Given the description of an element on the screen output the (x, y) to click on. 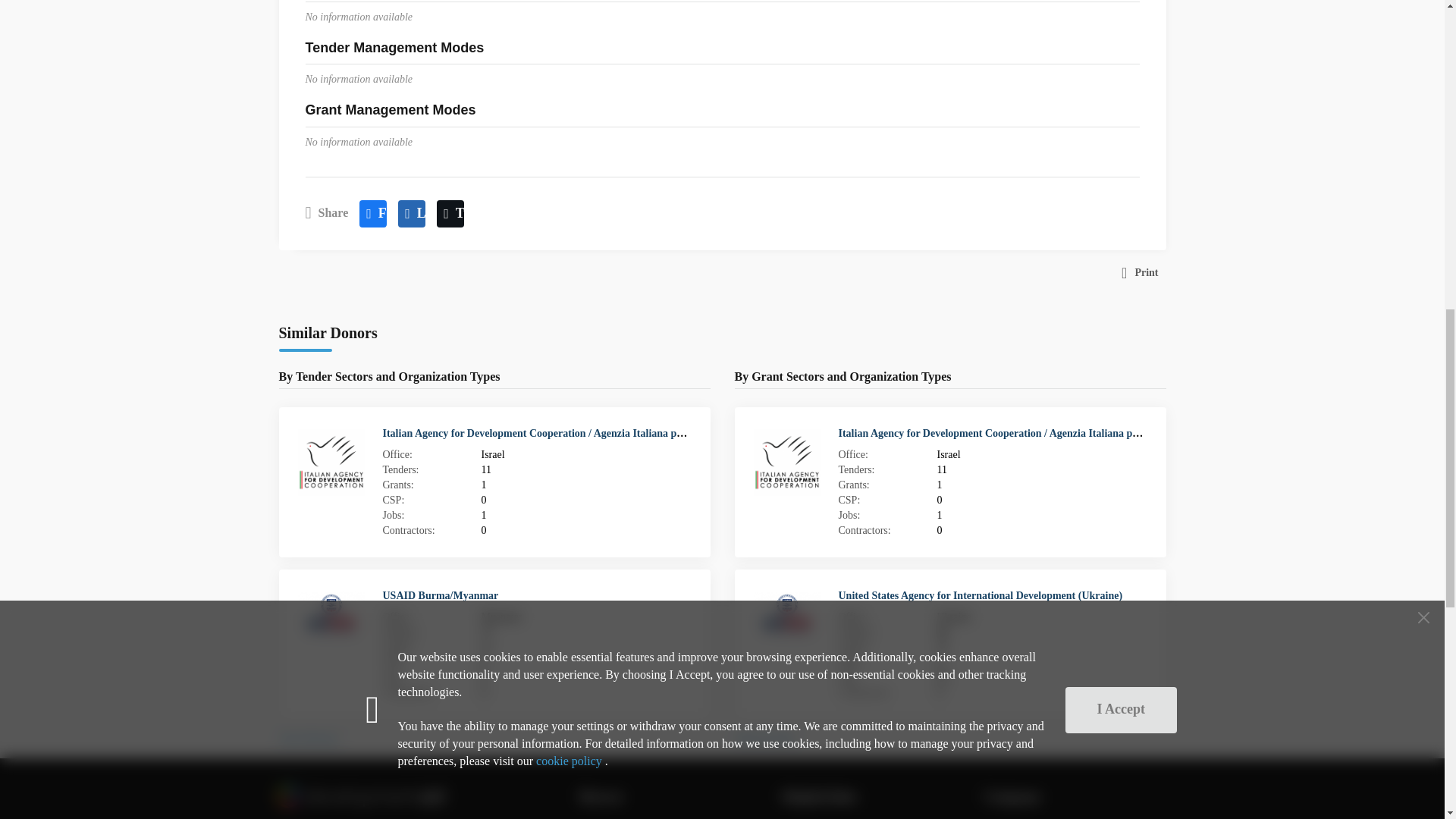
Facebook (373, 213)
Twitter (450, 213)
Linkedin (411, 213)
View 68 more (309, 738)
